Given the description of an element on the screen output the (x, y) to click on. 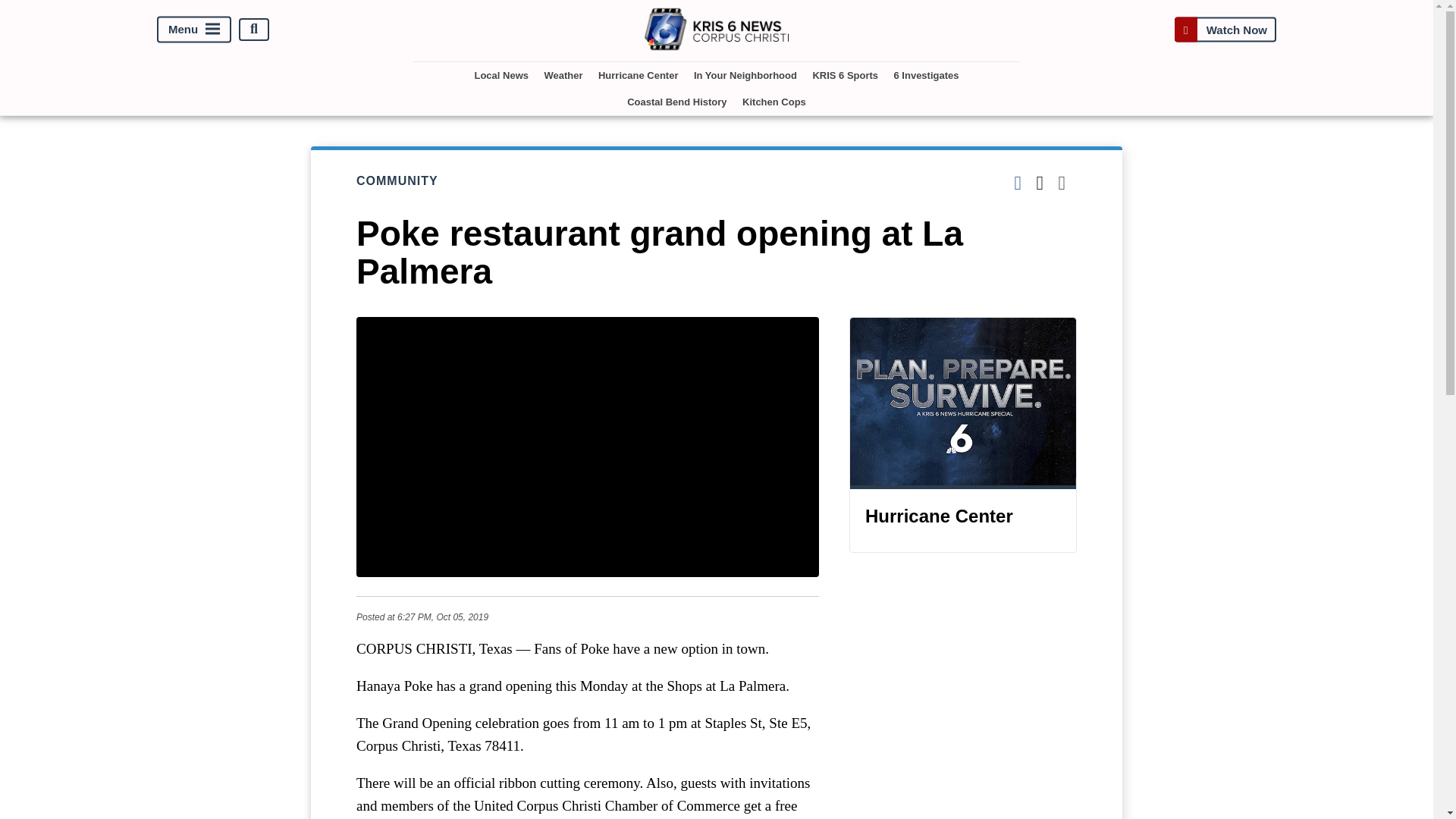
Watch Now (1224, 29)
Menu (194, 28)
